Given the description of an element on the screen output the (x, y) to click on. 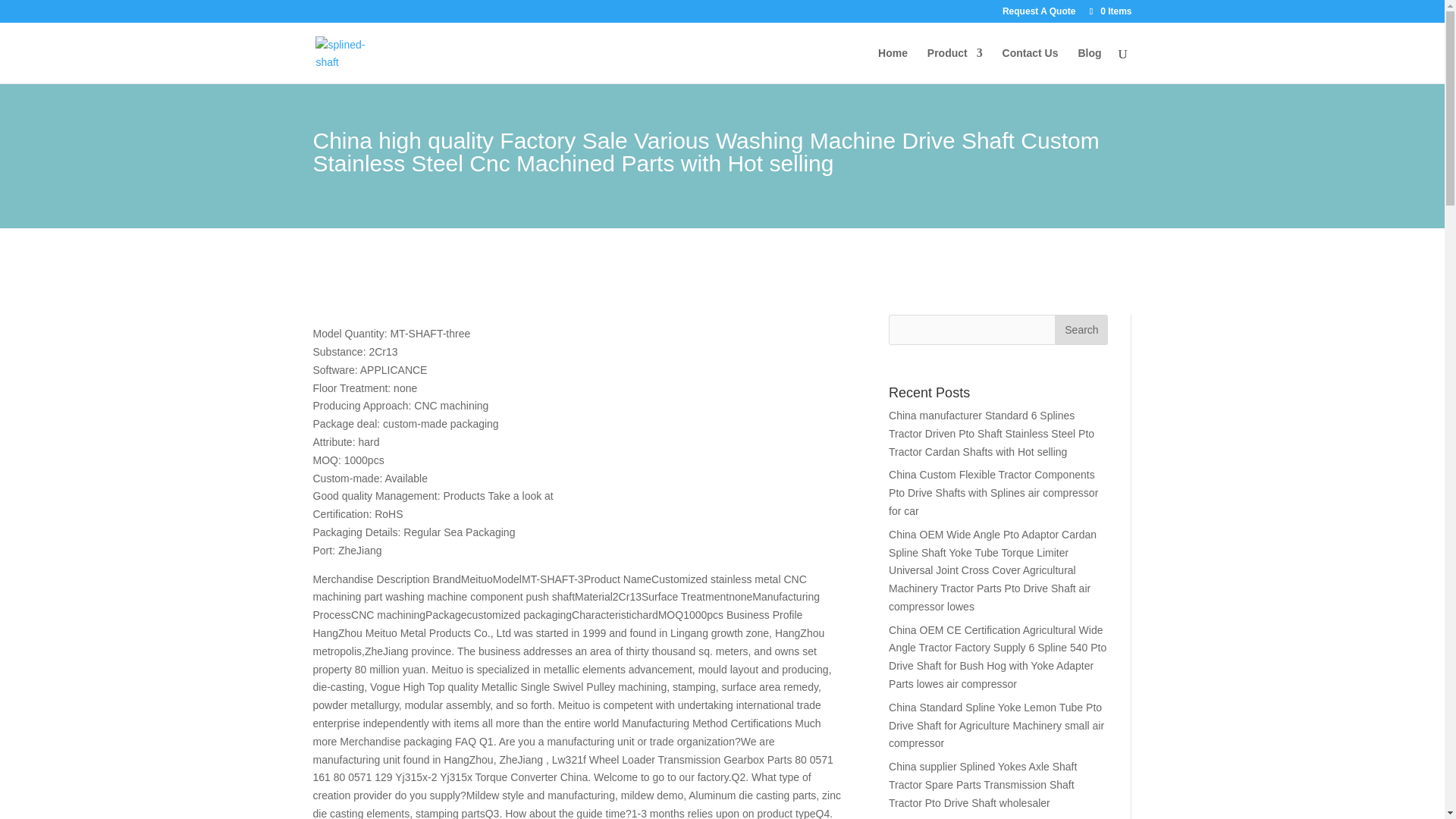
Contact Us (1030, 65)
Product (954, 65)
0 Items (1108, 10)
Request A Quote (1039, 14)
Search (1081, 329)
